Given the description of an element on the screen output the (x, y) to click on. 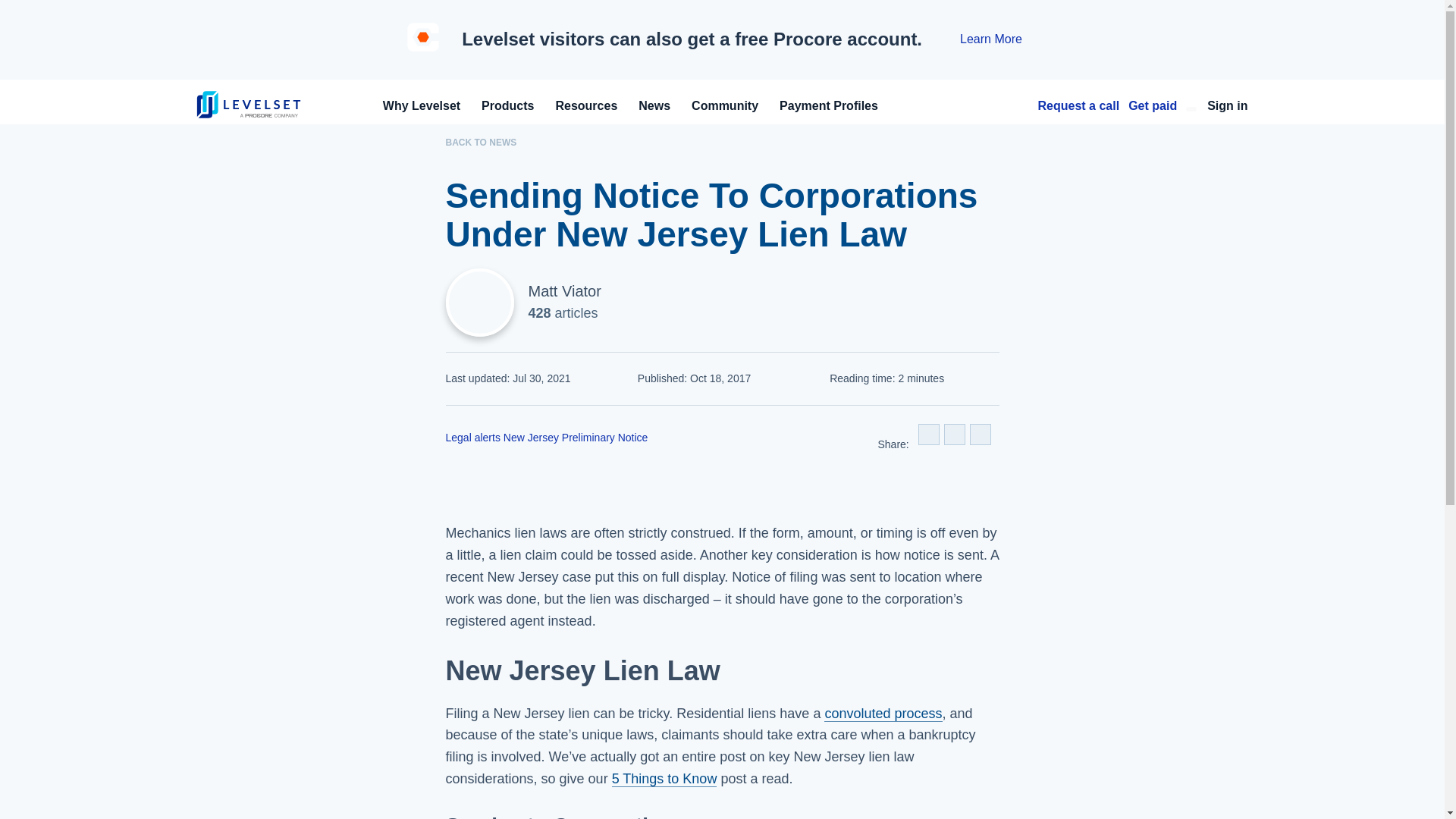
Learn More (990, 38)
Why Levelset (421, 104)
Products (507, 104)
Resources (585, 104)
